Given the description of an element on the screen output the (x, y) to click on. 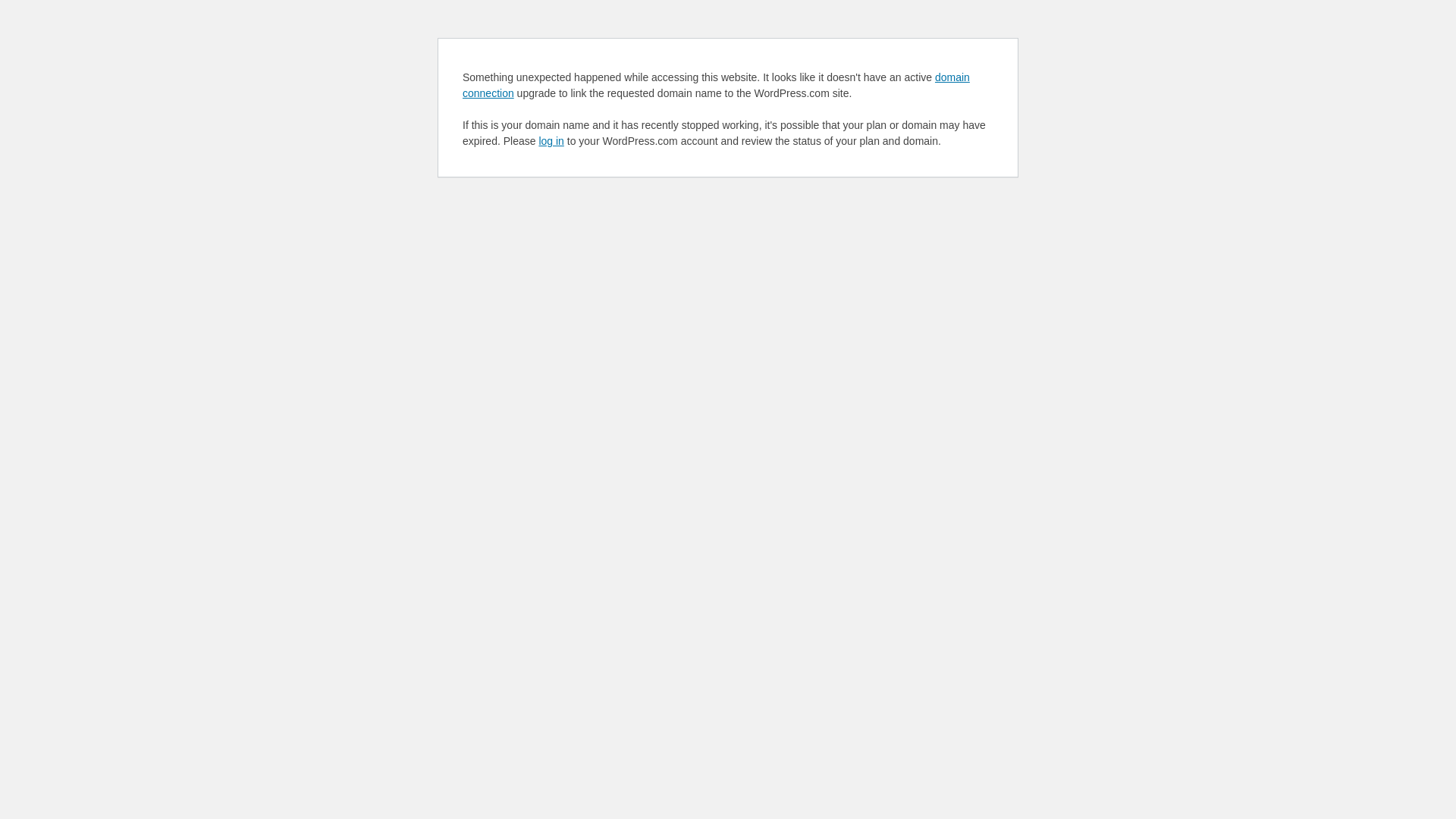
log in Element type: text (550, 140)
domain connection Element type: text (715, 85)
